Given the description of an element on the screen output the (x, y) to click on. 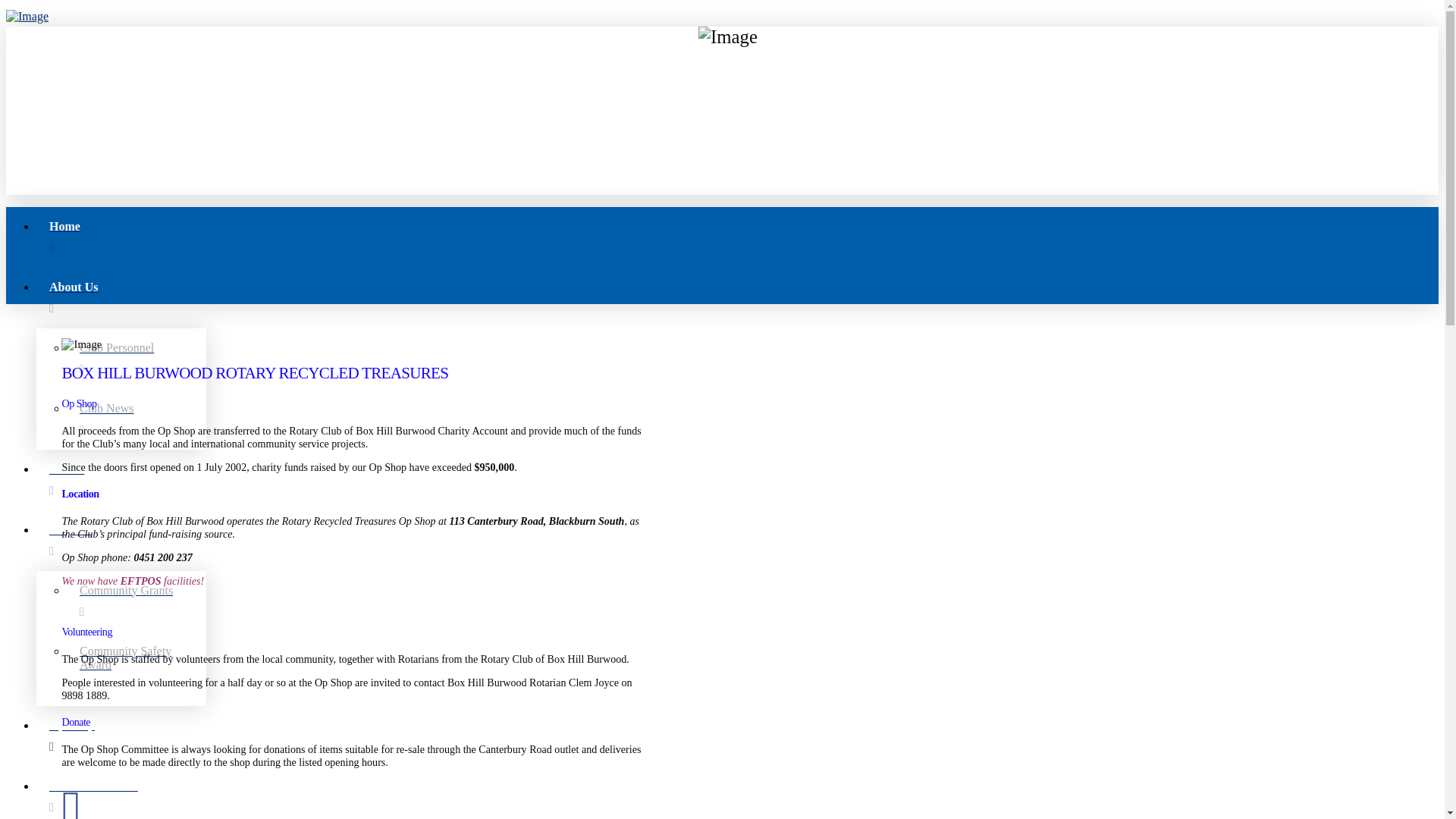
Op Shop Element type: text (737, 736)
Club News Element type: text (136, 419)
About Us Element type: text (737, 297)
Community Grants Element type: text (136, 601)
Projects Element type: text (737, 540)
Home Element type: text (737, 237)
Events Element type: text (737, 479)
Community Safety Award Element type: text (136, 668)
Club Personnel Element type: text (136, 358)
